Given the description of an element on the screen output the (x, y) to click on. 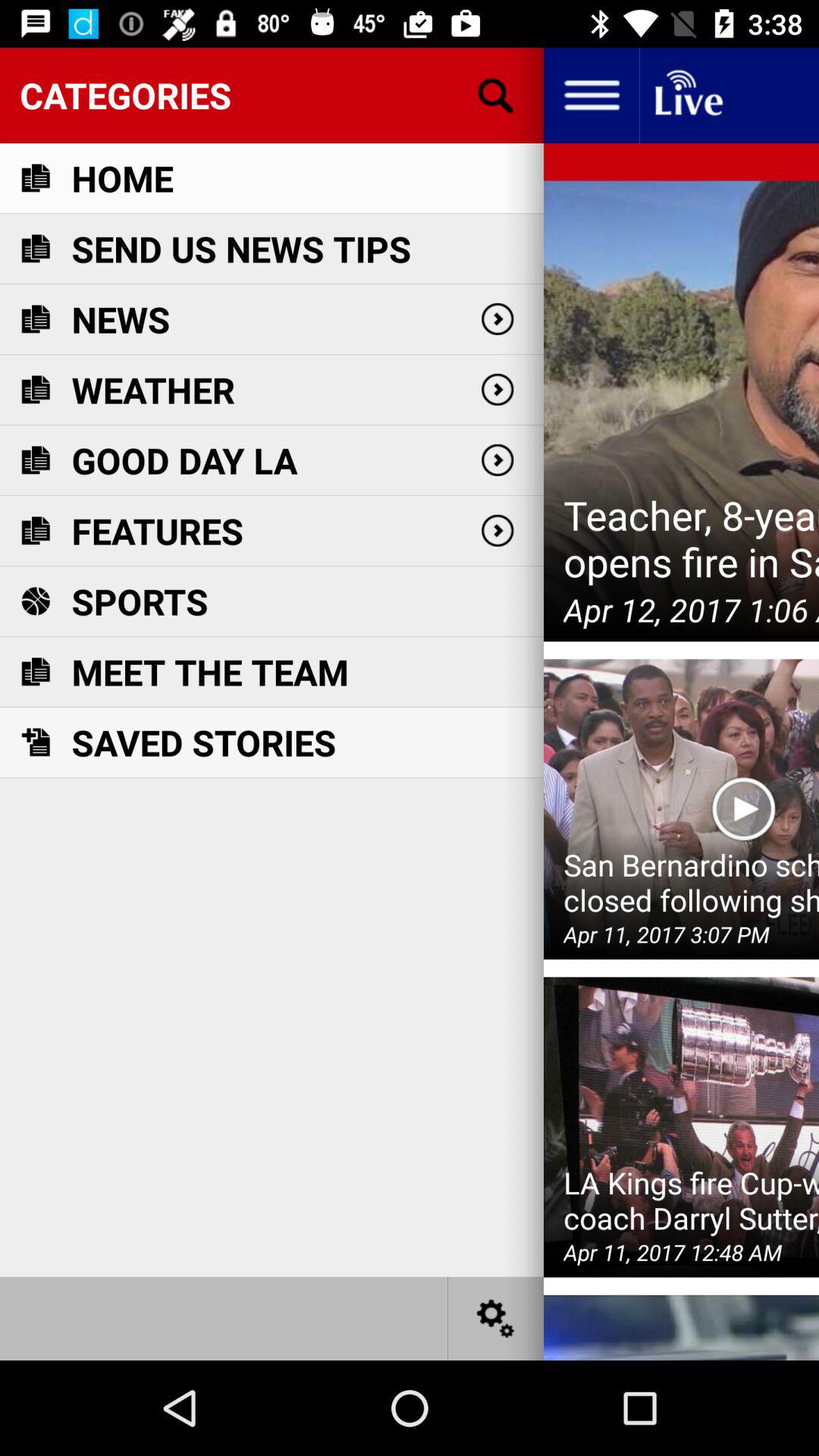
scroll to categories icon (271, 95)
